Given the description of an element on the screen output the (x, y) to click on. 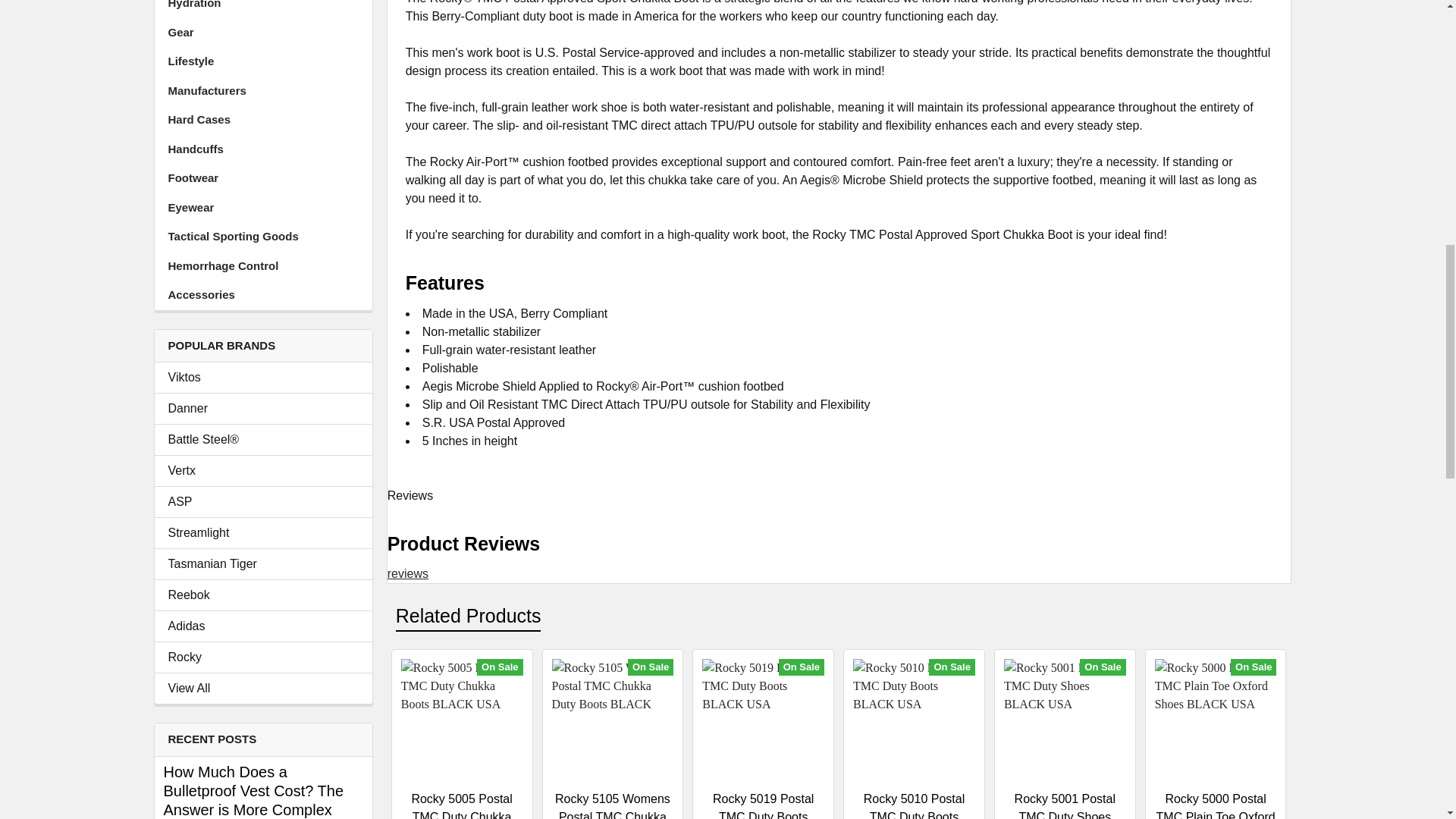
Reebok (263, 595)
Streamlight (263, 533)
Vertx (263, 470)
Adidas (263, 626)
Danner (263, 408)
Tasmanian Tiger (263, 564)
Viktos (263, 377)
Rocky (263, 657)
ASP (263, 502)
